Given the description of an element on the screen output the (x, y) to click on. 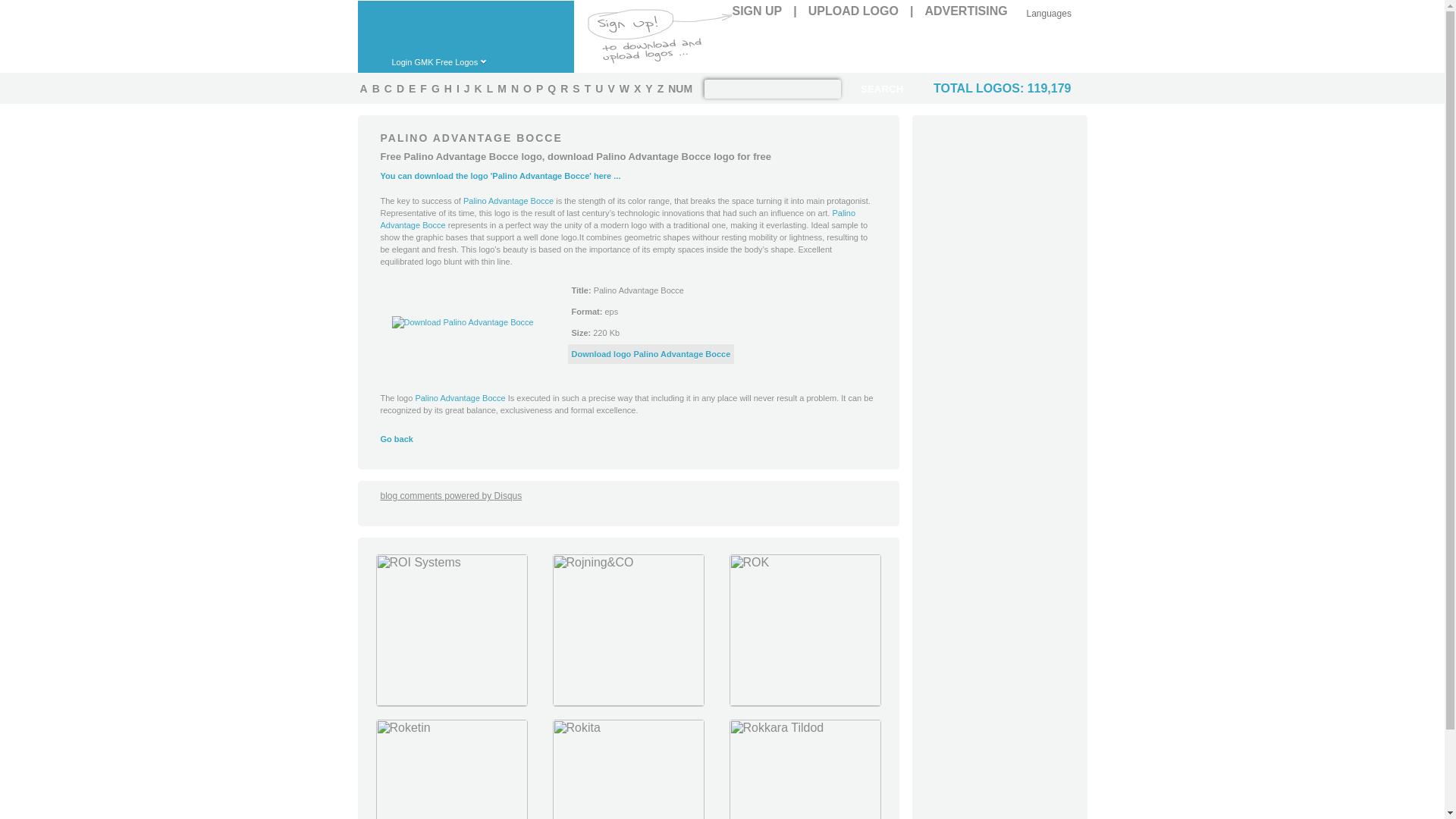
Download Logo ROI Systems (450, 702)
Login GMK Free Logos (446, 61)
NUM (679, 88)
Search (881, 88)
Palino Advantage Bocce (618, 219)
Search (881, 88)
Download Palino Advantage Bocce (651, 353)
Palino Advantage Bocce (618, 219)
Palino Advantage Bocce (508, 200)
Go back (396, 438)
